Given the description of an element on the screen output the (x, y) to click on. 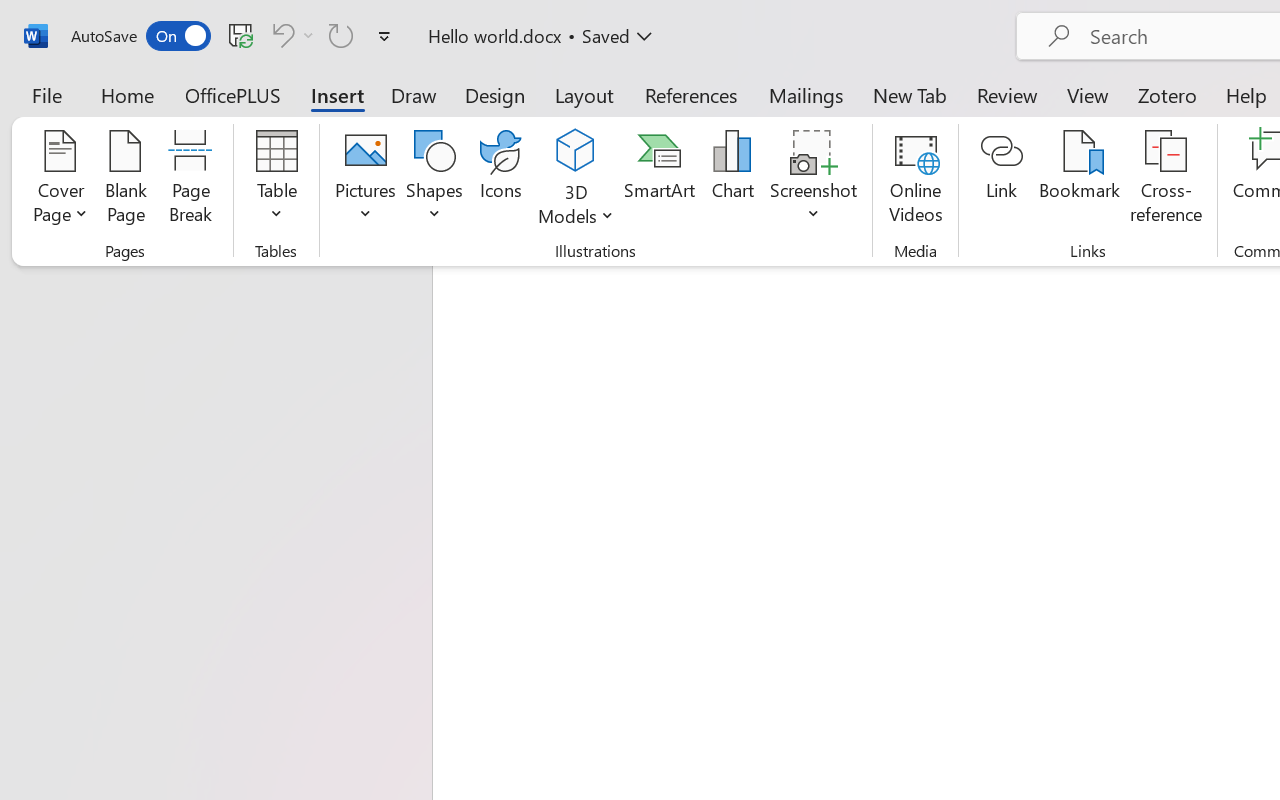
Save (241, 35)
Can't Repeat (341, 35)
View (1087, 94)
Draw (413, 94)
Layout (584, 94)
Can't Undo (280, 35)
References (690, 94)
Review (1007, 94)
Quick Access Toolbar (233, 36)
Customize Quick Access Toolbar (384, 35)
Home (127, 94)
Insert (337, 94)
Can't Undo (290, 35)
